Given the description of an element on the screen output the (x, y) to click on. 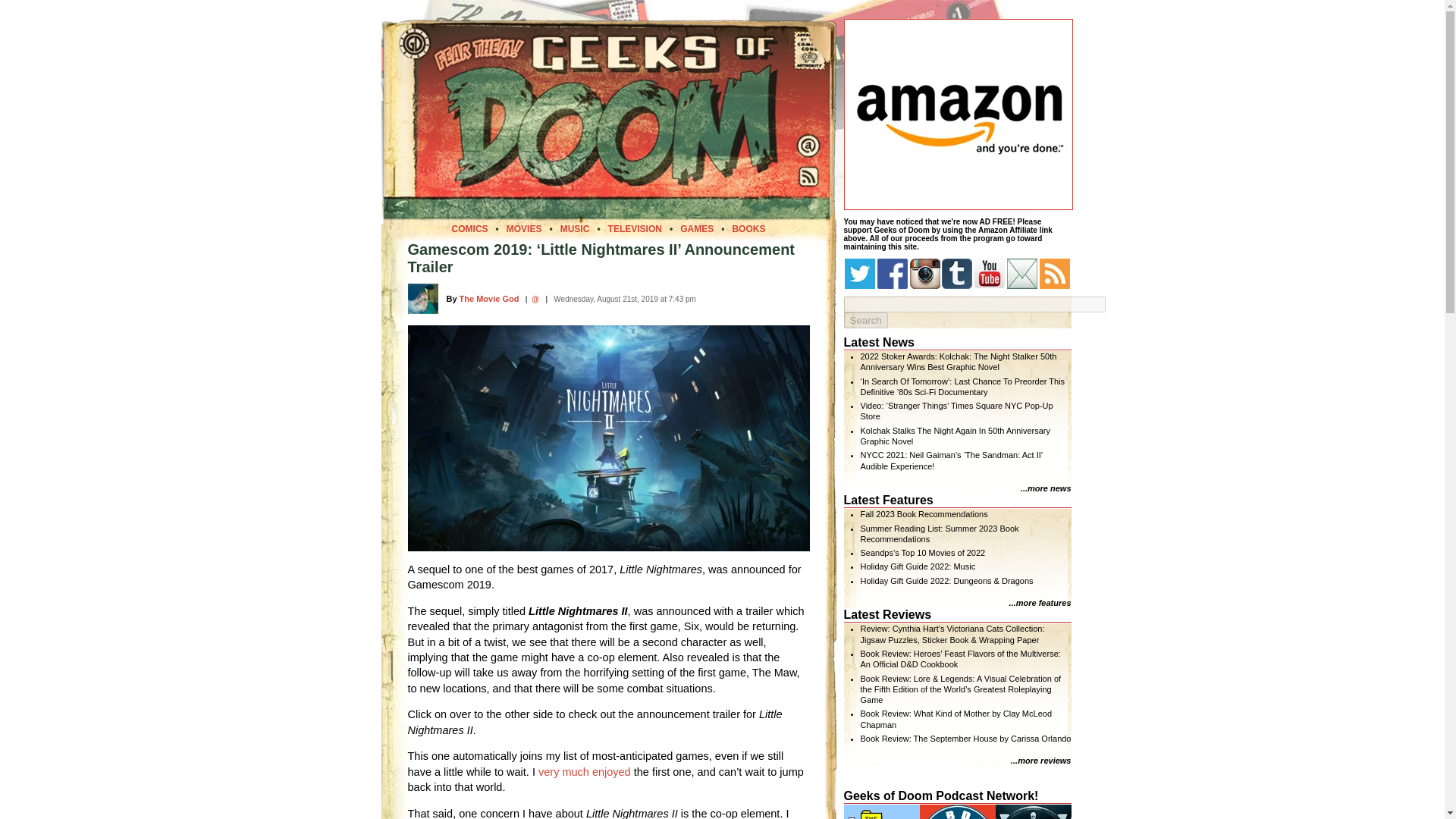
Little Nightmares II (608, 437)
TELEVISION (635, 228)
COMICS (469, 228)
View The Movie God's profile (489, 298)
Follow Geeks of Doom on Twitter (859, 273)
Follow The Movie God on Twitter (534, 298)
GAMES (696, 228)
Search (864, 320)
MUSIC (574, 228)
very much enjoyed (584, 771)
